Given the description of an element on the screen output the (x, y) to click on. 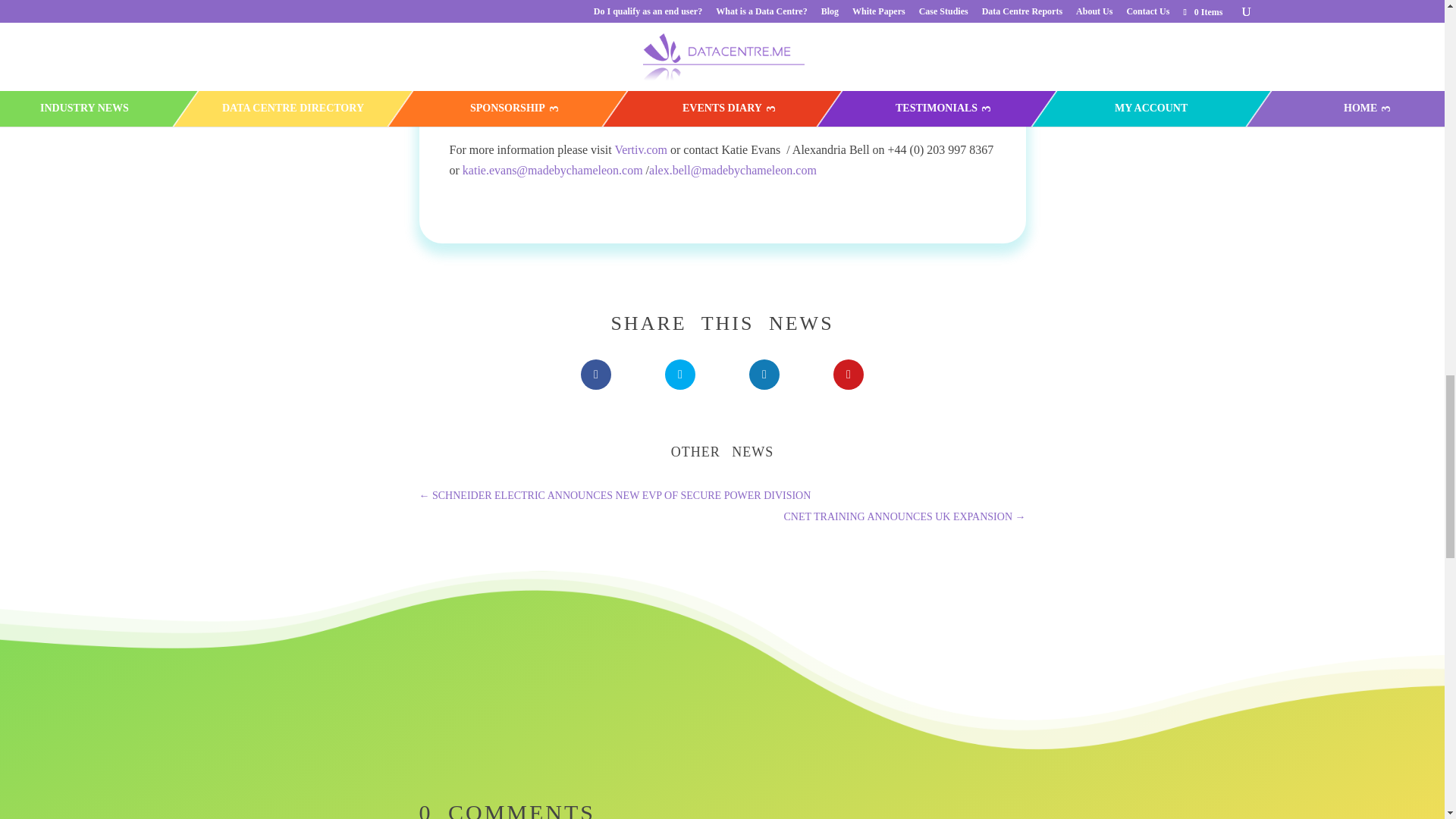
Vertiv.com (640, 149)
